Given the description of an element on the screen output the (x, y) to click on. 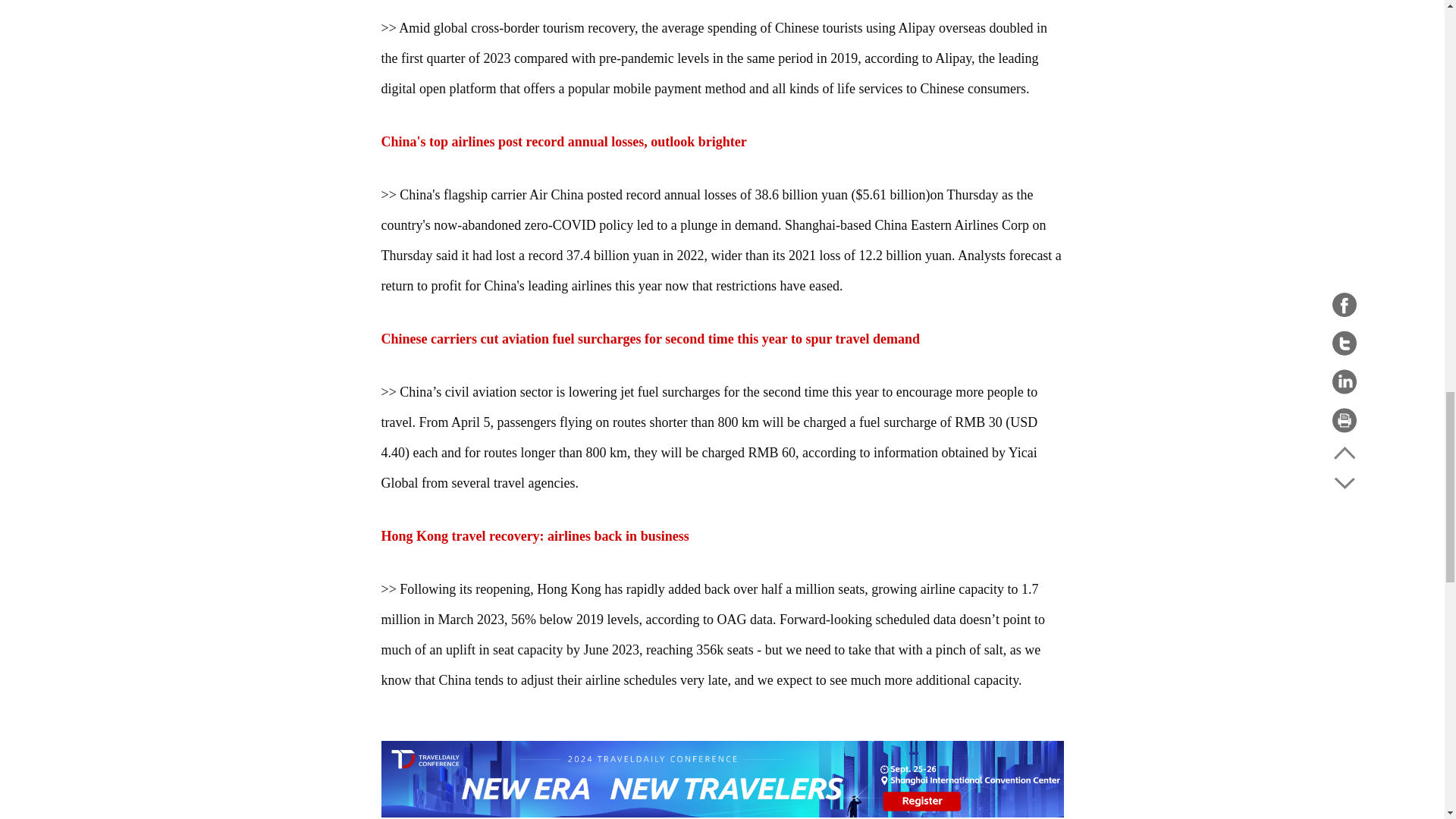
Hong Kong travel recovery: airlines back in business (534, 534)
